Given the description of an element on the screen output the (x, y) to click on. 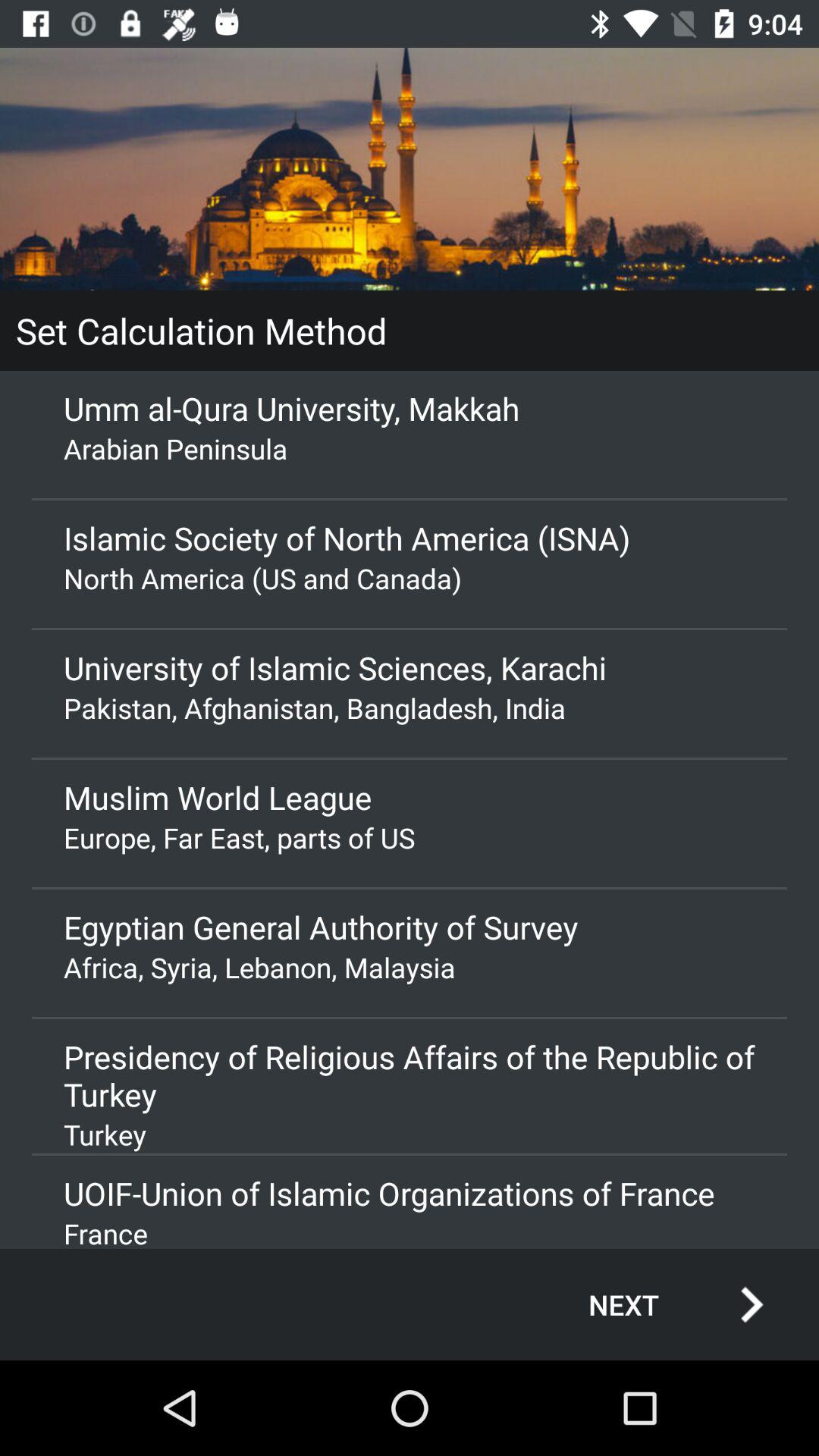
turn off icon below the muslim world league item (409, 837)
